Given the description of an element on the screen output the (x, y) to click on. 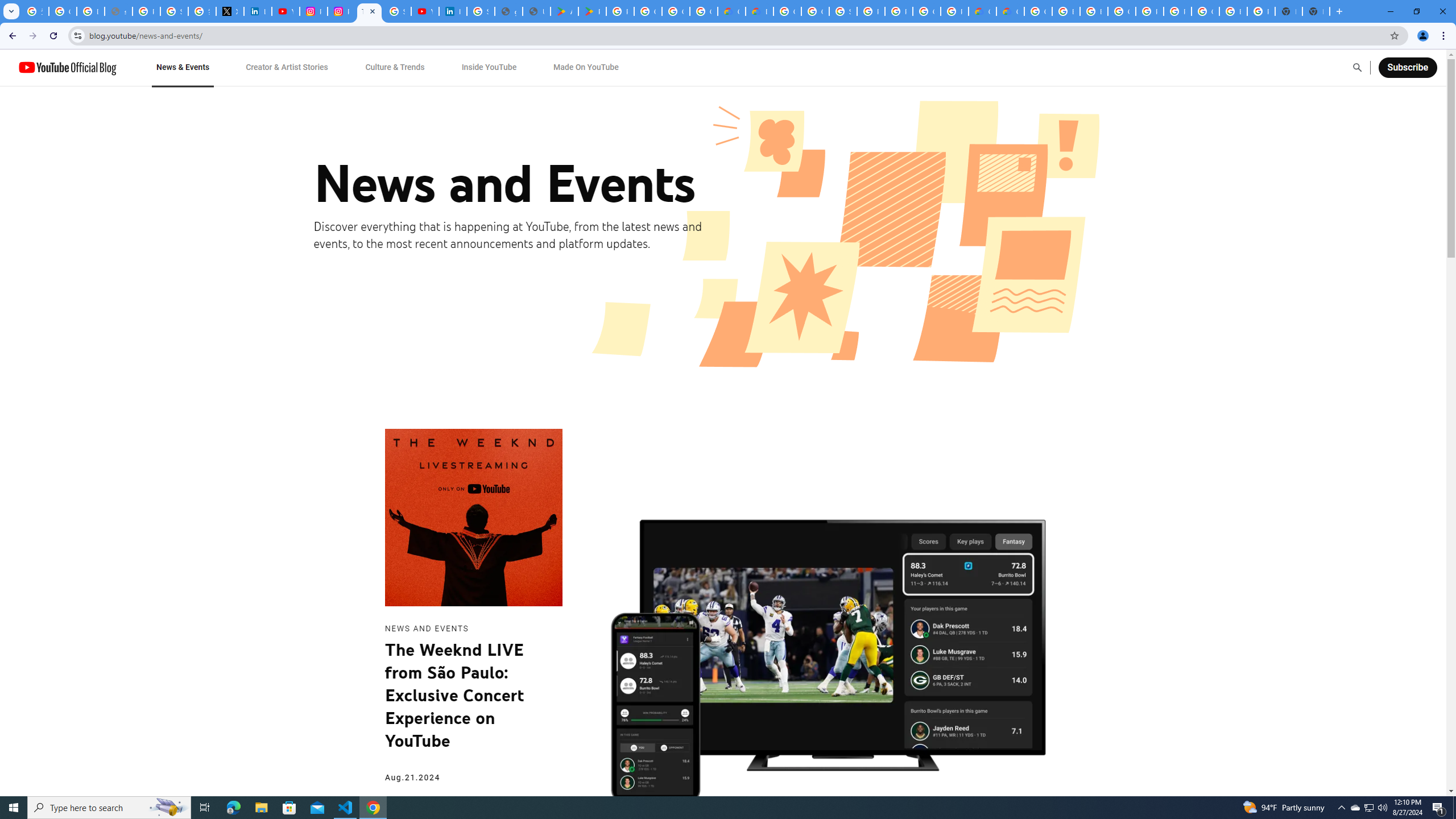
Browse Chrome as a guest - Computer - Google Chrome Help (1065, 11)
Privacy Help Center - Policies Help (146, 11)
Inside YouTube (488, 67)
Google Cloud Platform (1205, 11)
Creator & Artist Stories (287, 67)
Sign in - Google Accounts (174, 11)
